Given the description of an element on the screen output the (x, y) to click on. 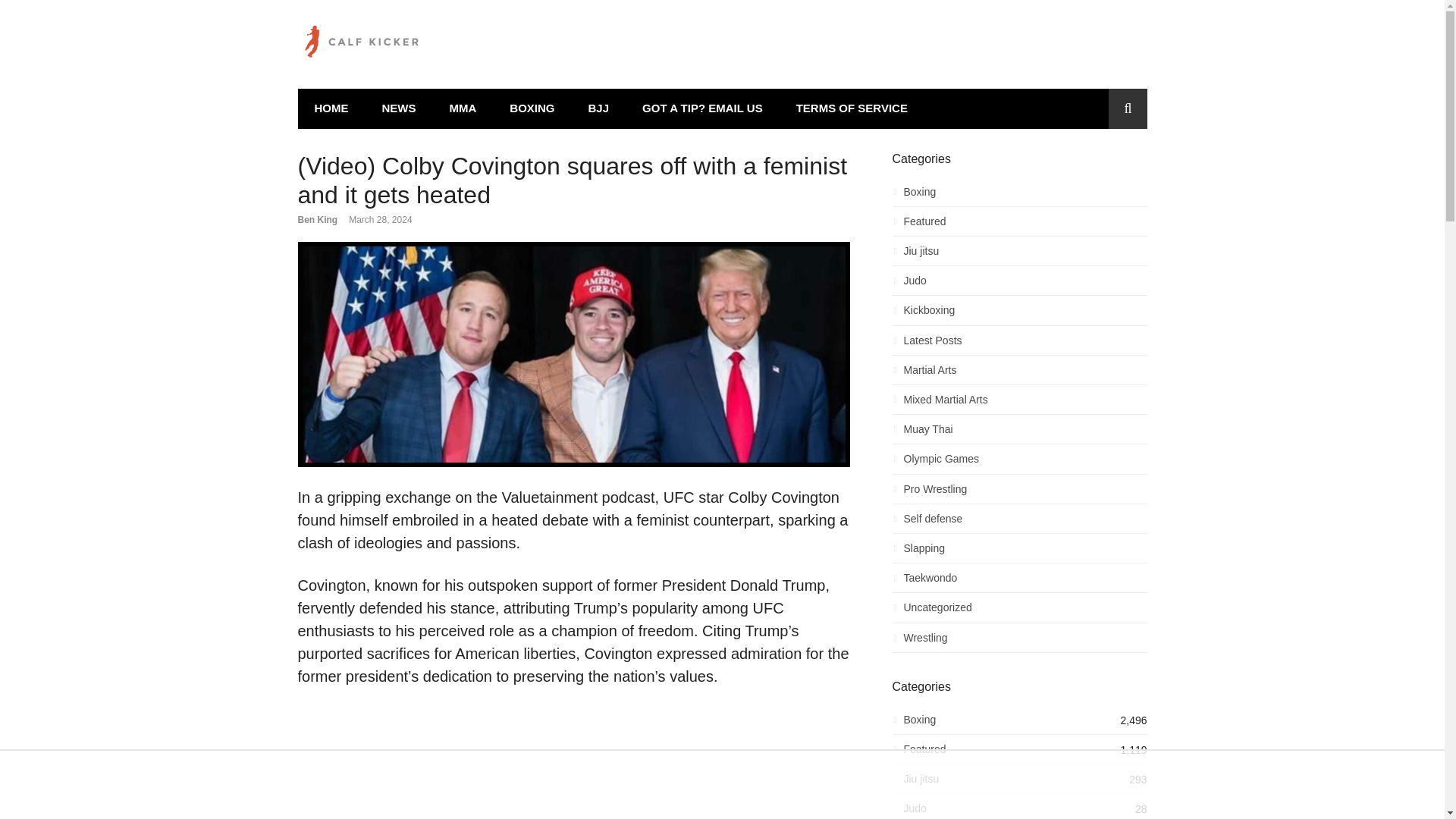
Martial Arts (1019, 373)
NEWS (398, 108)
Pro Wrestling (1019, 493)
Kickboxing (1019, 314)
Judo (1019, 284)
Ben King (317, 219)
BOXING (531, 108)
TERMS OF SERVICE (851, 108)
Mixed Martial Arts (1019, 403)
HOME (331, 108)
